Given the description of an element on the screen output the (x, y) to click on. 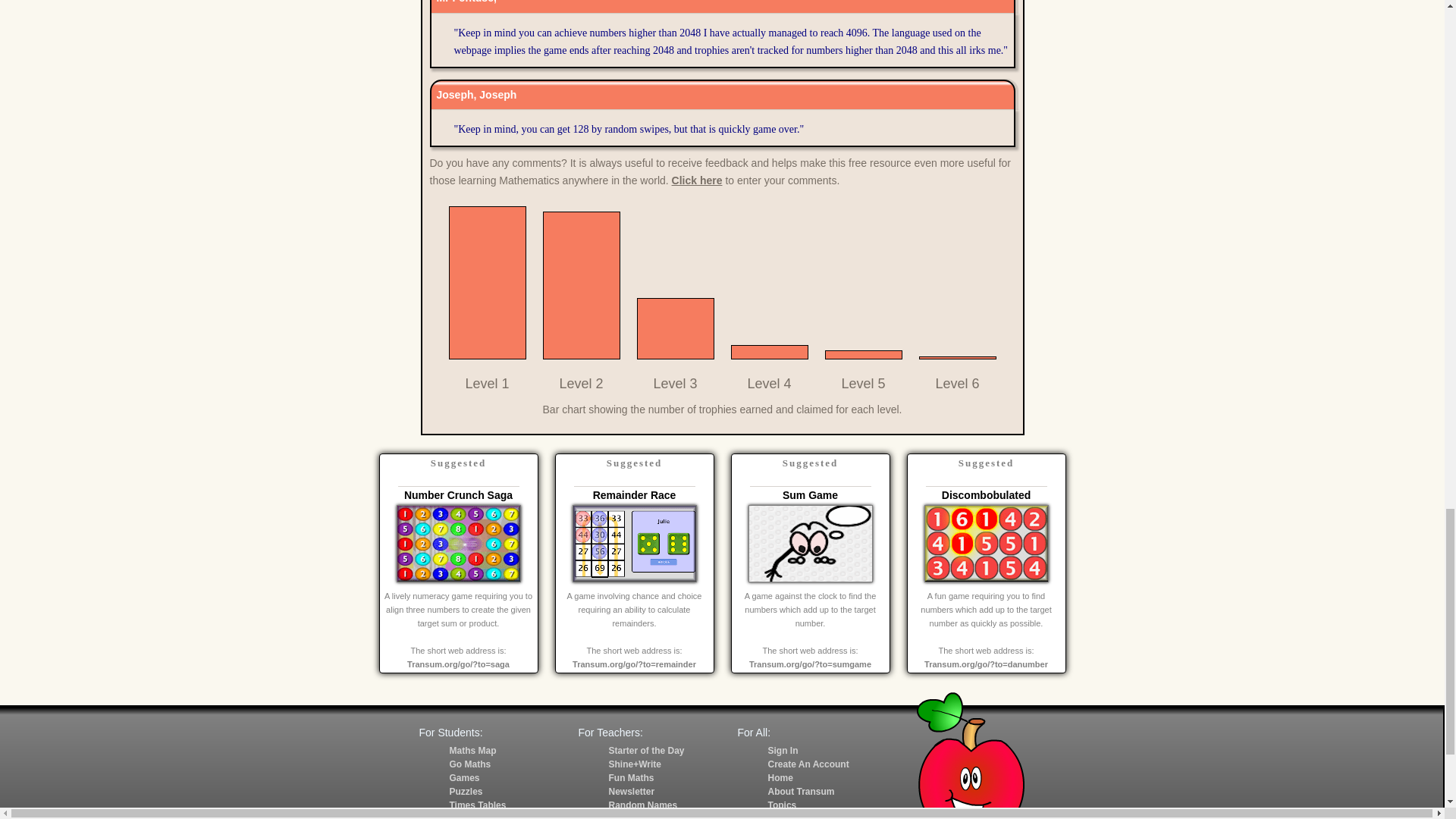
Create An Account (807, 764)
Mathematical games (463, 777)
TablesMaster (477, 816)
Maths Map (472, 750)
291 trophies (769, 351)
Sign In (782, 750)
Topics (781, 805)
Activitied to engage your mathematical skills (469, 764)
Newsletter (630, 791)
1414 trophies (675, 328)
